Given the description of an element on the screen output the (x, y) to click on. 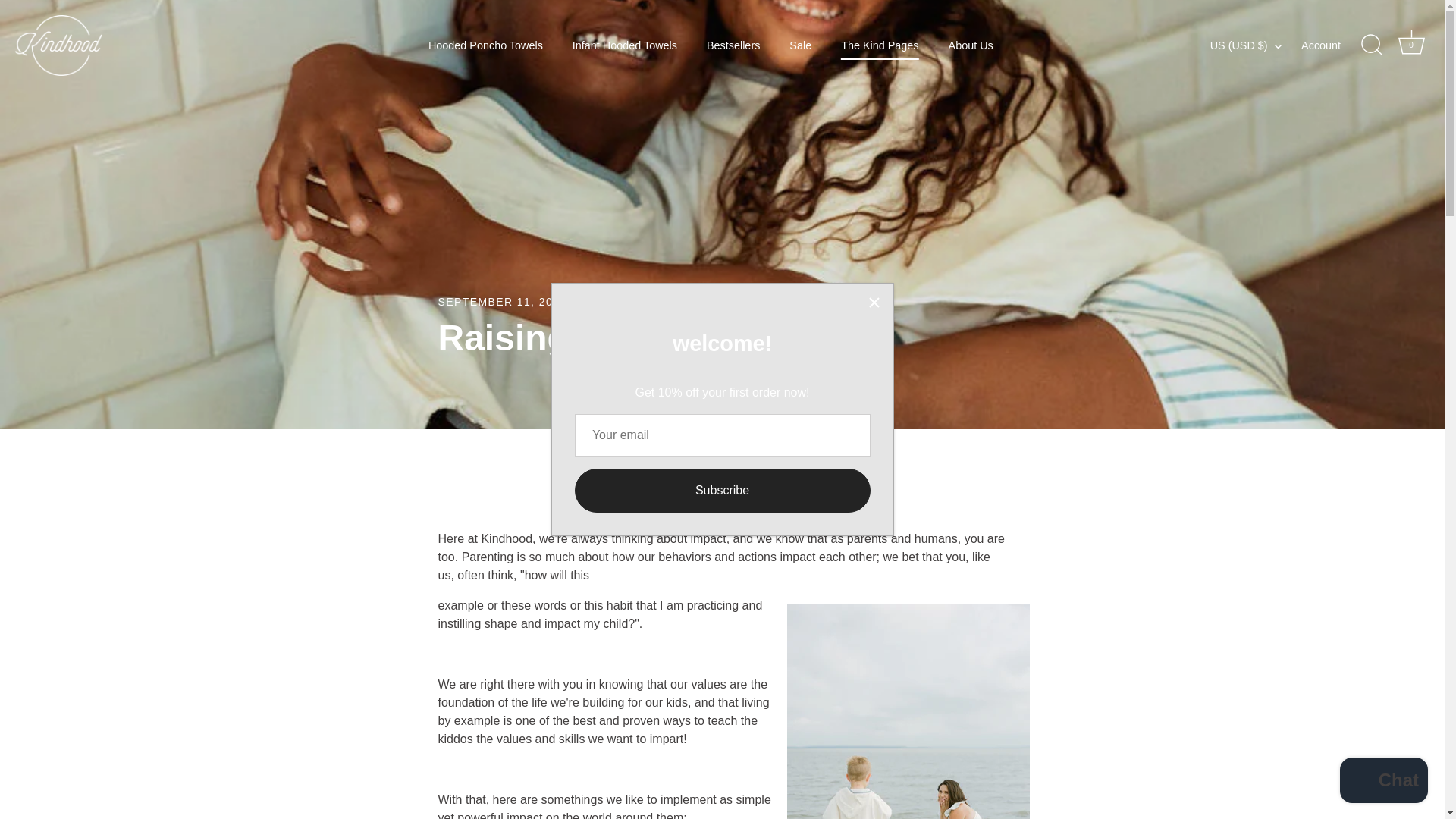
Cart (1411, 41)
Hooded Poncho Towels (485, 45)
Shopify online store chat (1383, 781)
Infant Hooded Towels (624, 45)
About Us (970, 45)
Sale (800, 45)
Bestsellers (733, 45)
The Kind Pages (879, 45)
